Given the description of an element on the screen output the (x, y) to click on. 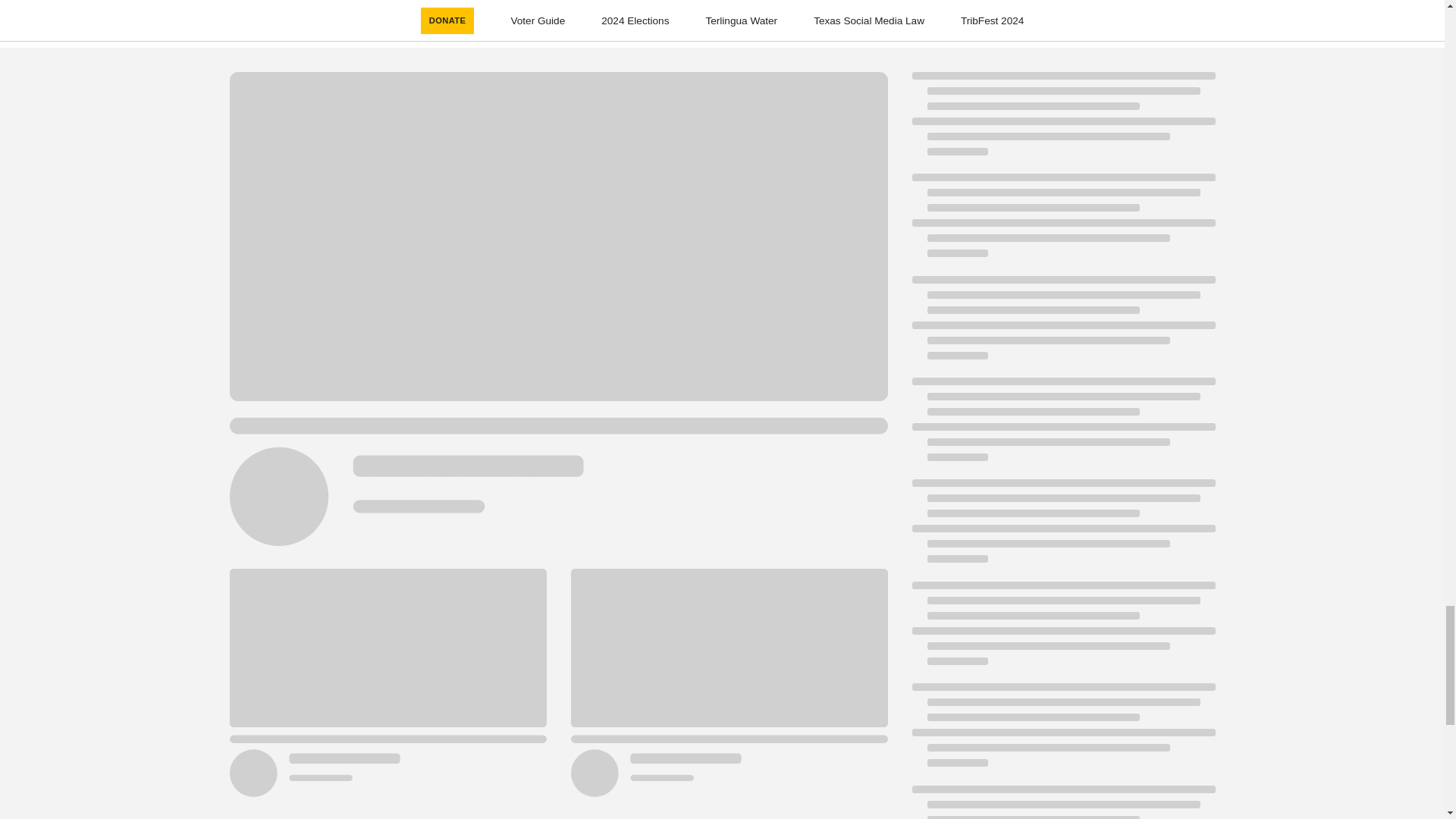
Loading indicator (1062, 121)
Loading indicator (1062, 732)
Loading indicator (1062, 528)
Loading indicator (1062, 222)
Loading indicator (1062, 802)
Loading indicator (1062, 325)
Loading indicator (1062, 630)
Loading indicator (1062, 426)
